Given the description of an element on the screen output the (x, y) to click on. 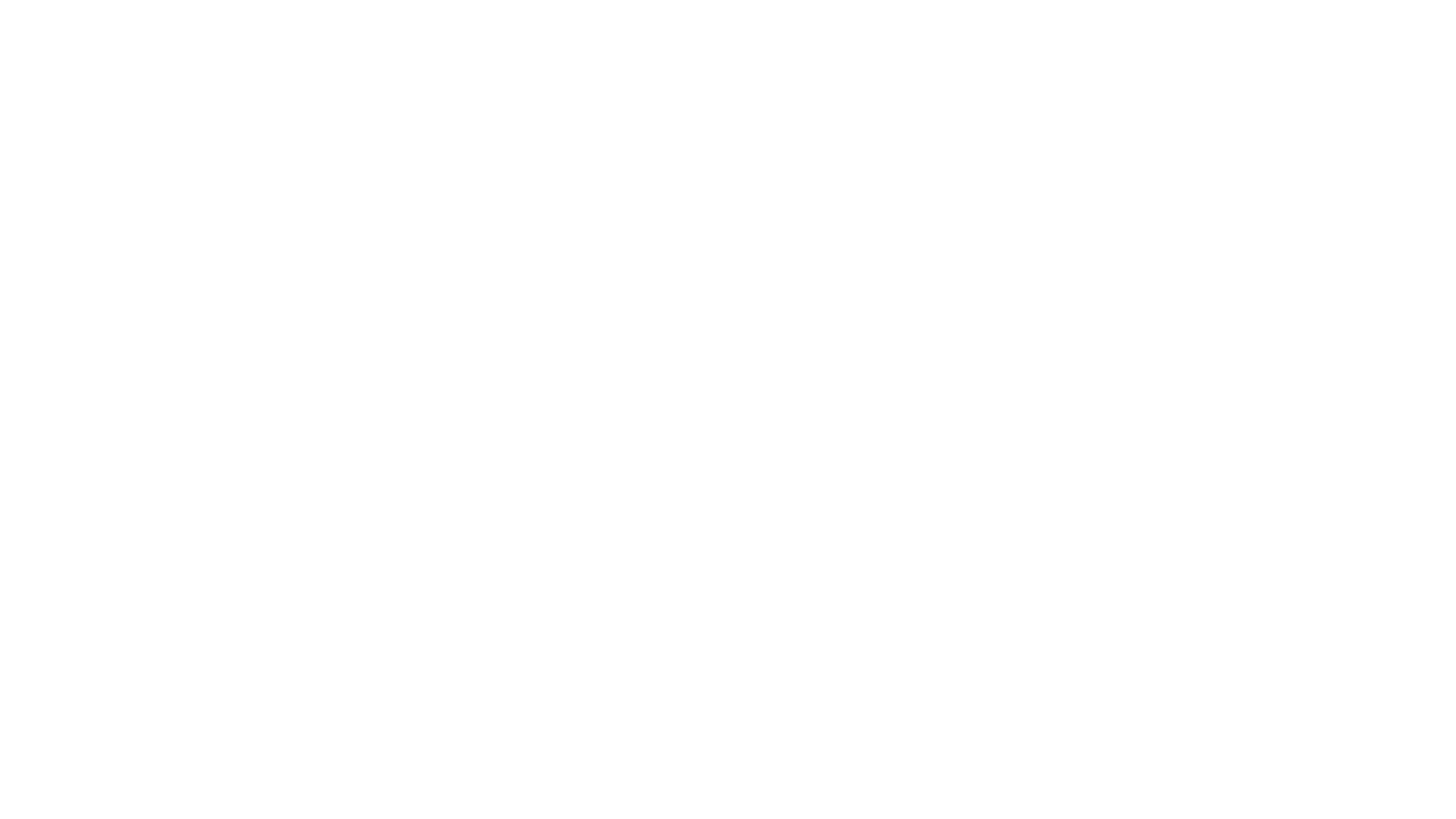
Cloudflare Element type: text (798, 799)
